Given the description of an element on the screen output the (x, y) to click on. 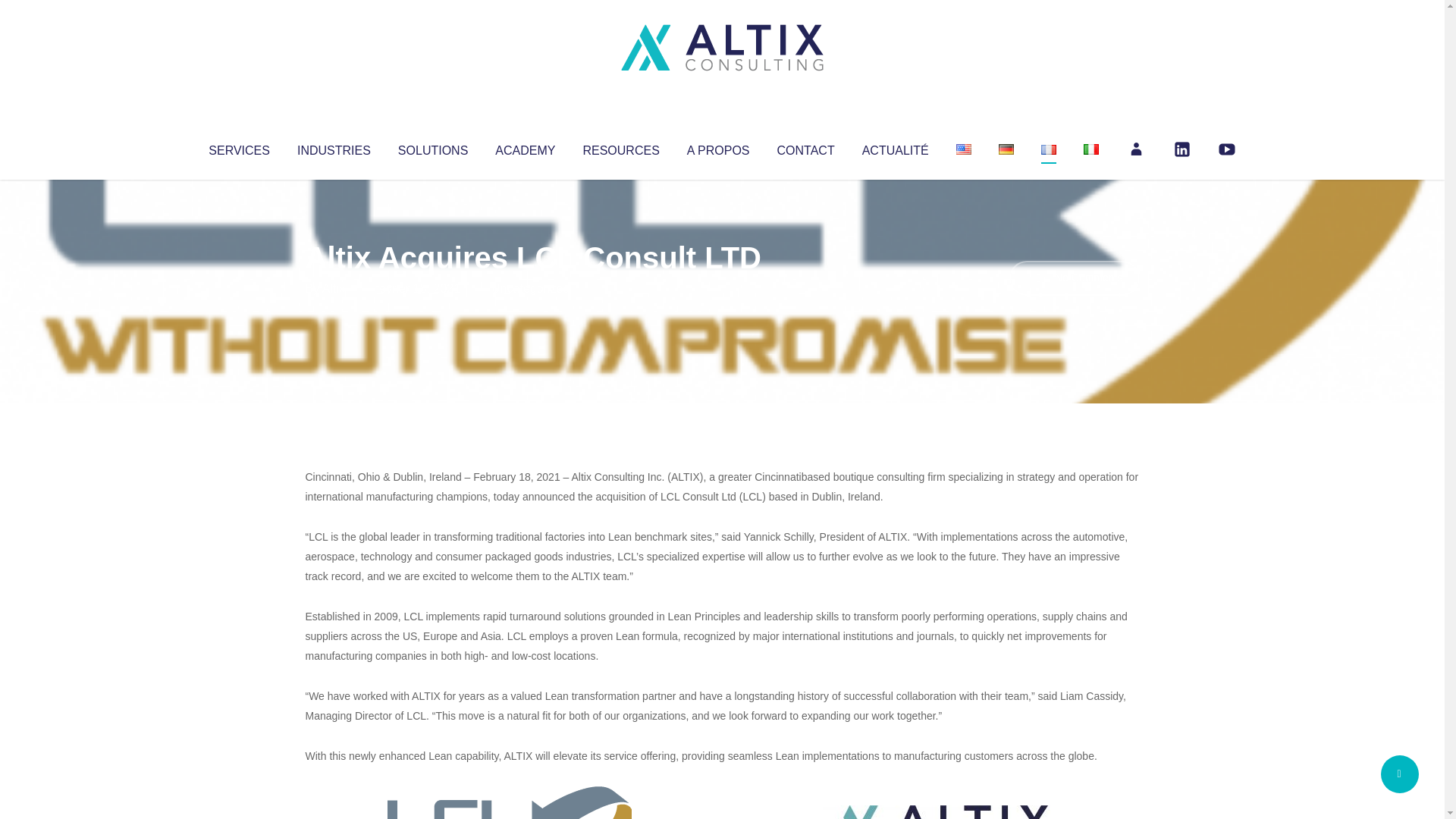
RESOURCES (620, 146)
A PROPOS (718, 146)
Articles par Altix (333, 287)
SERVICES (238, 146)
Altix (333, 287)
SOLUTIONS (432, 146)
ACADEMY (524, 146)
Uncategorized (530, 287)
INDUSTRIES (334, 146)
No Comments (1073, 278)
